Given the description of an element on the screen output the (x, y) to click on. 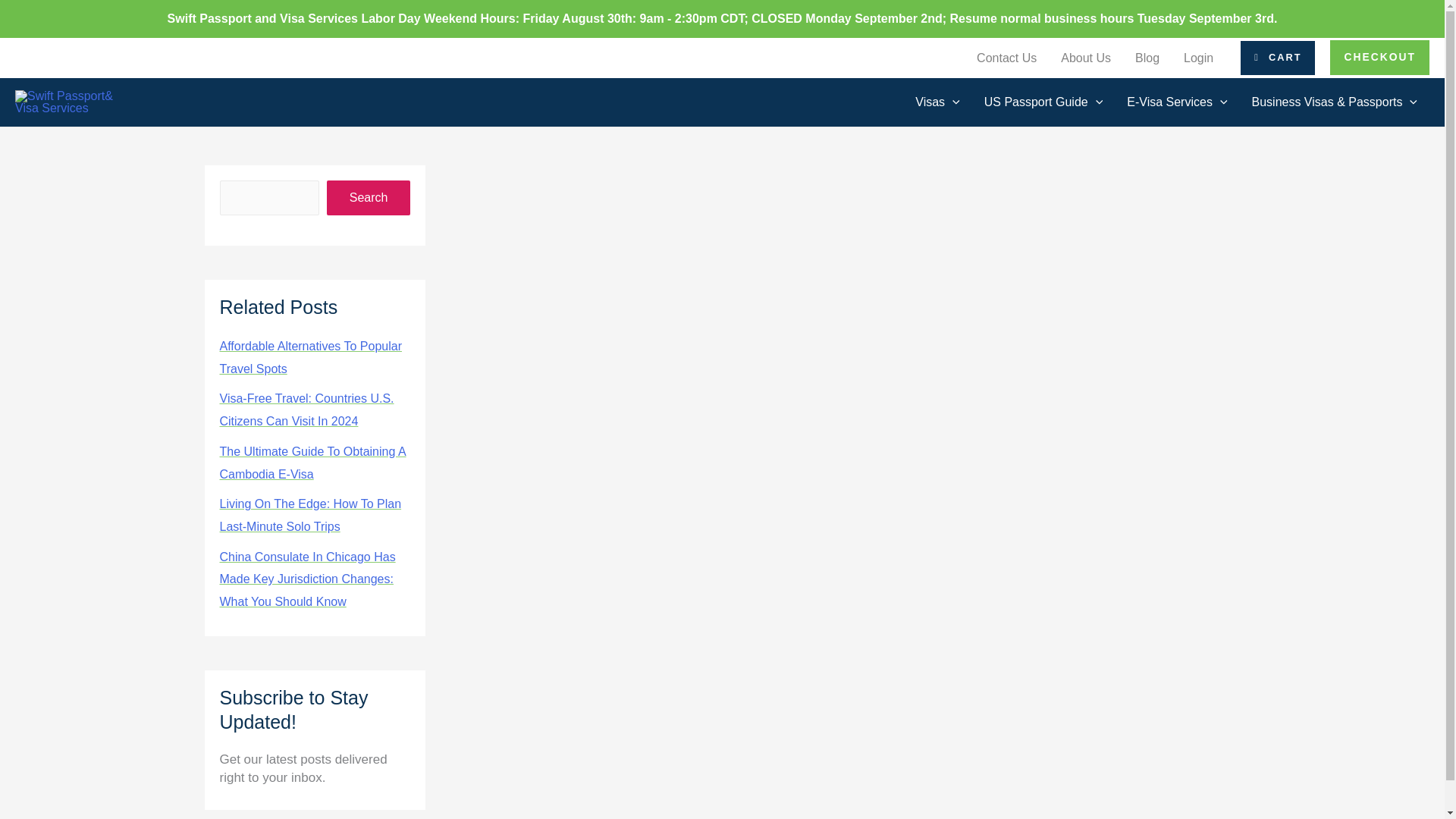
CART (1277, 57)
Login (1198, 58)
CHECKOUT (1379, 57)
US Passport Guide (1043, 101)
Visas (936, 101)
About Us (1085, 58)
E-Visa Services (1177, 101)
Contact Us (1005, 58)
Blog (1147, 58)
